Given the description of an element on the screen output the (x, y) to click on. 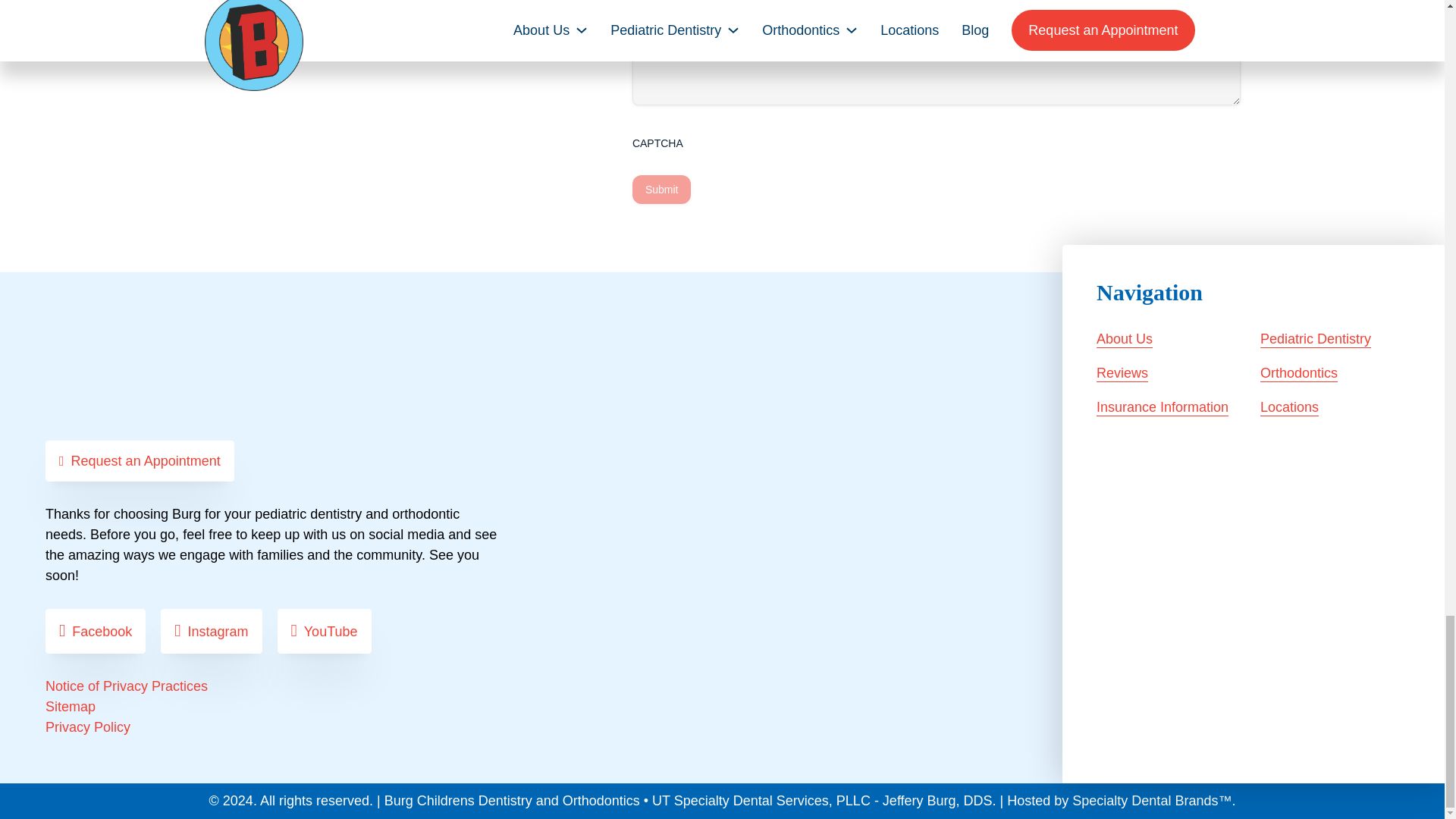
Submit (661, 189)
